Given the description of an element on the screen output the (x, y) to click on. 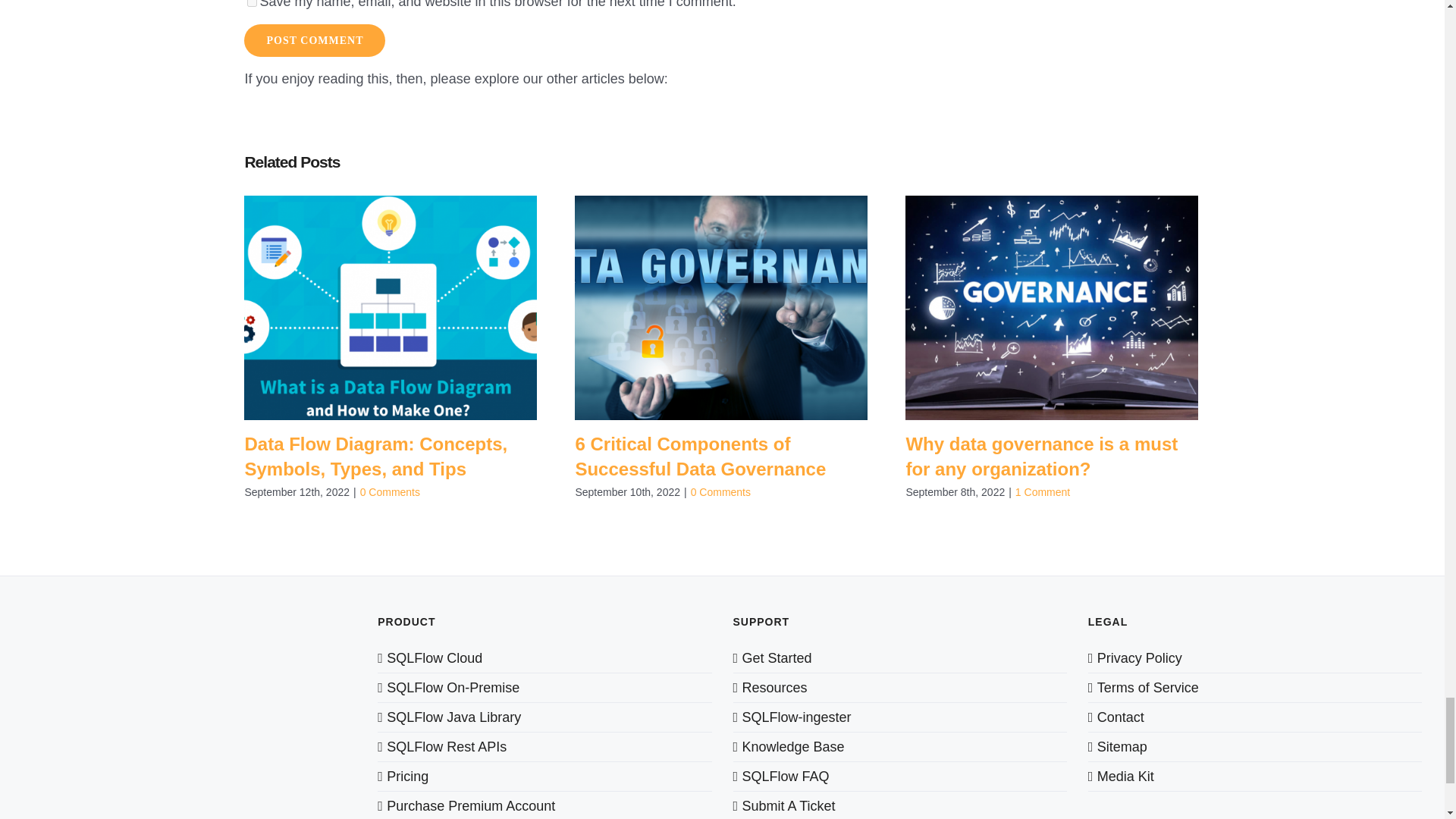
Post Comment (314, 40)
Data Flow Diagram: Concepts, Symbols, Types, and Tips (375, 456)
Why data governance is a must for any organization? (1041, 456)
yes (252, 3)
6 Critical Components of Successful Data Governance (700, 456)
Knowledge Base (899, 746)
